Given the description of an element on the screen output the (x, y) to click on. 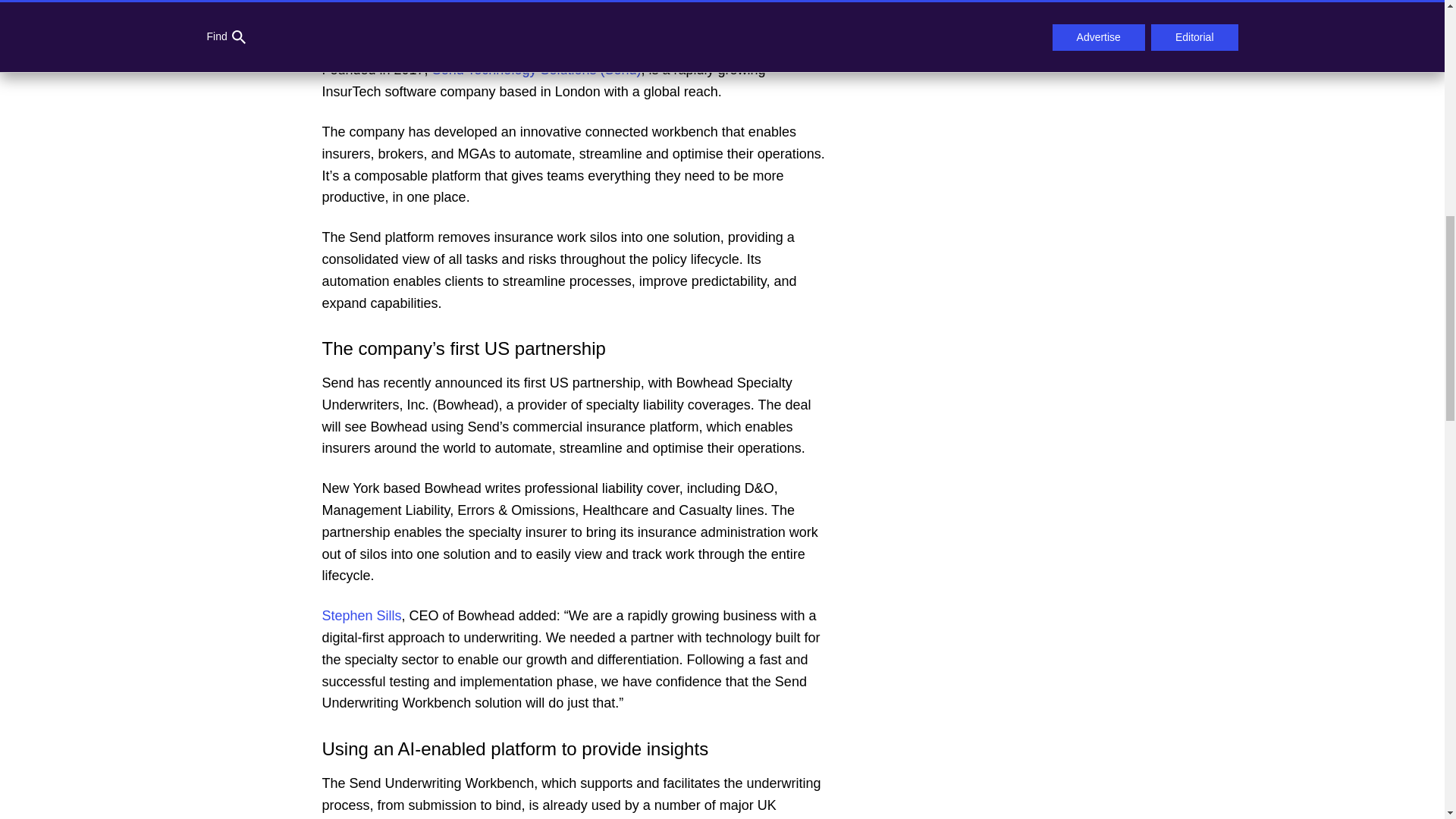
Stephen Sills (361, 615)
